Given the description of an element on the screen output the (x, y) to click on. 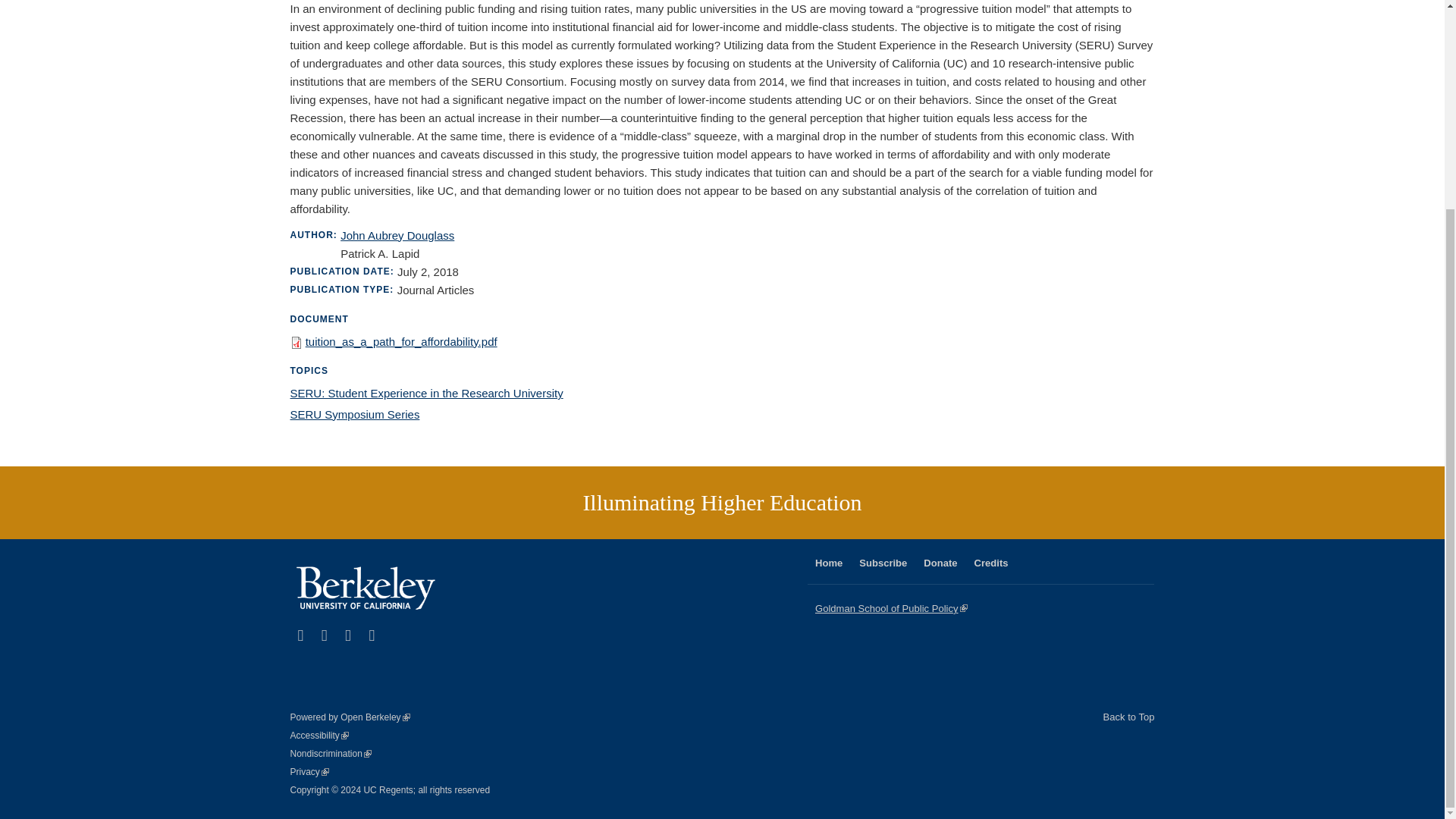
LinkedIn (324, 634)
John Aubrey Douglass (354, 413)
